Given the description of an element on the screen output the (x, y) to click on. 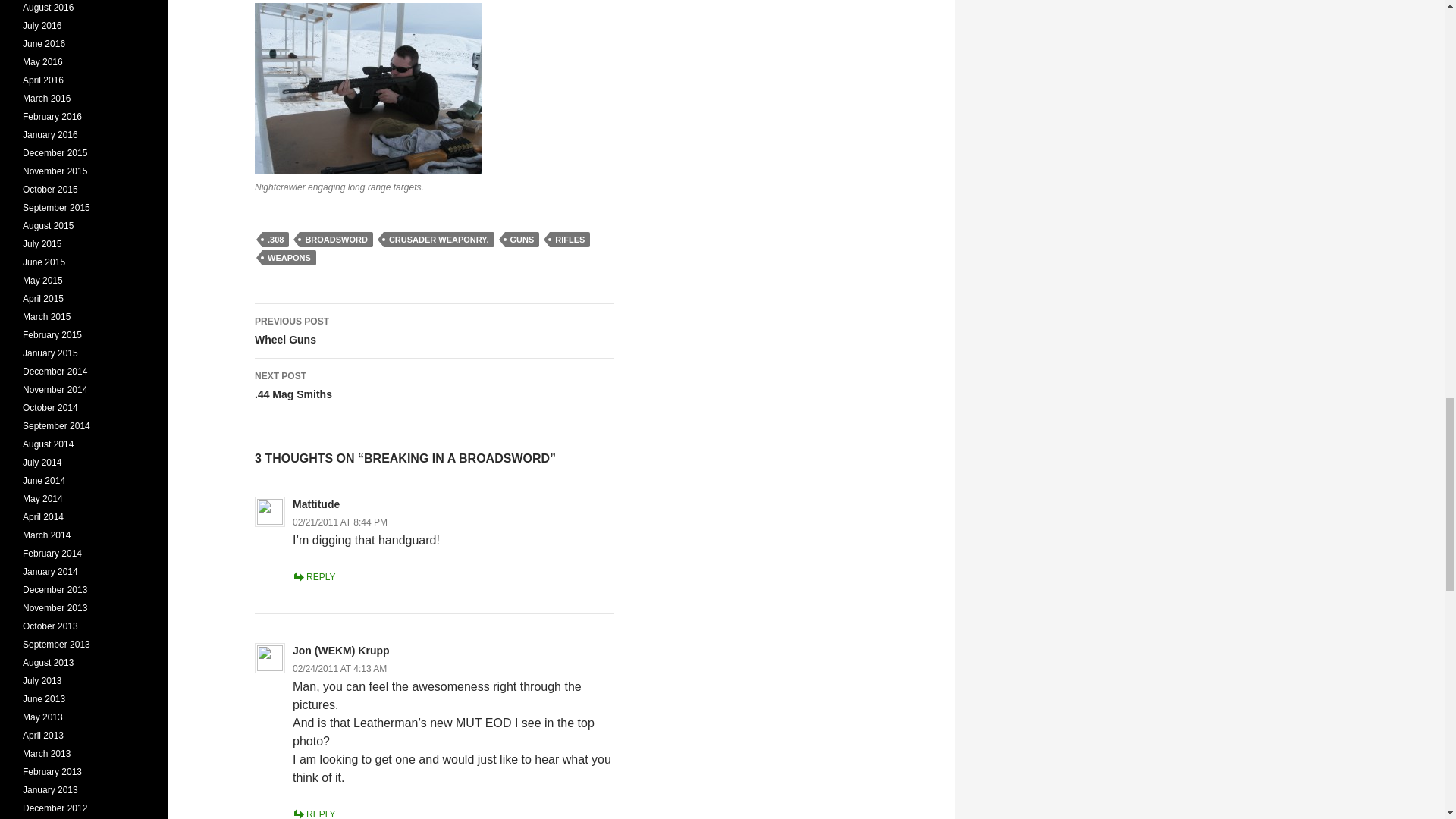
.308 (275, 239)
RIFLES (569, 239)
BROADSWORD (335, 239)
REPLY (434, 385)
REPLY (313, 814)
GUNS (313, 576)
WEAPONS (434, 330)
CRUSADER WEAPONRY. (522, 239)
